Given the description of an element on the screen output the (x, y) to click on. 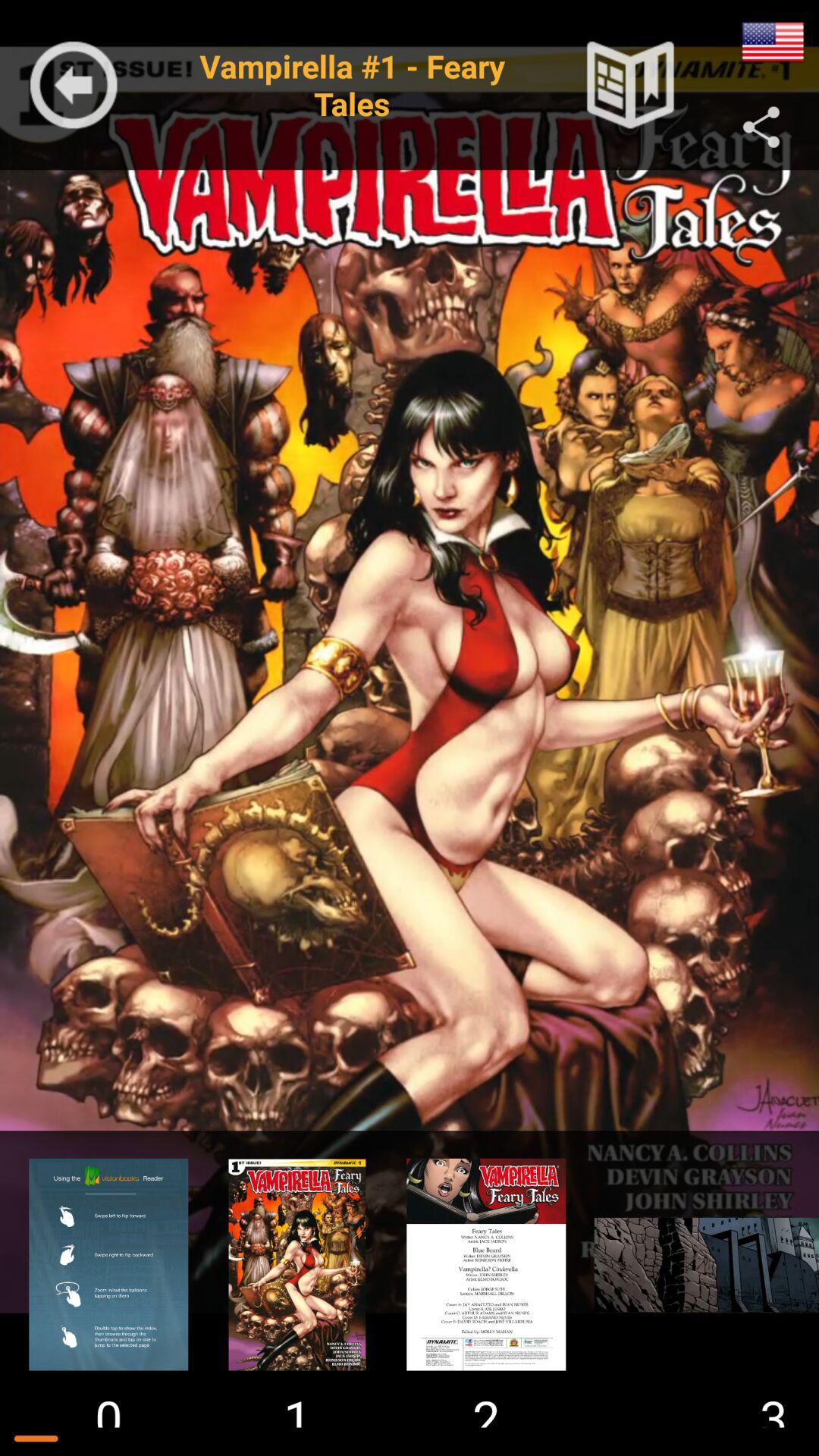
view preview screen (486, 1264)
